Given the description of an element on the screen output the (x, y) to click on. 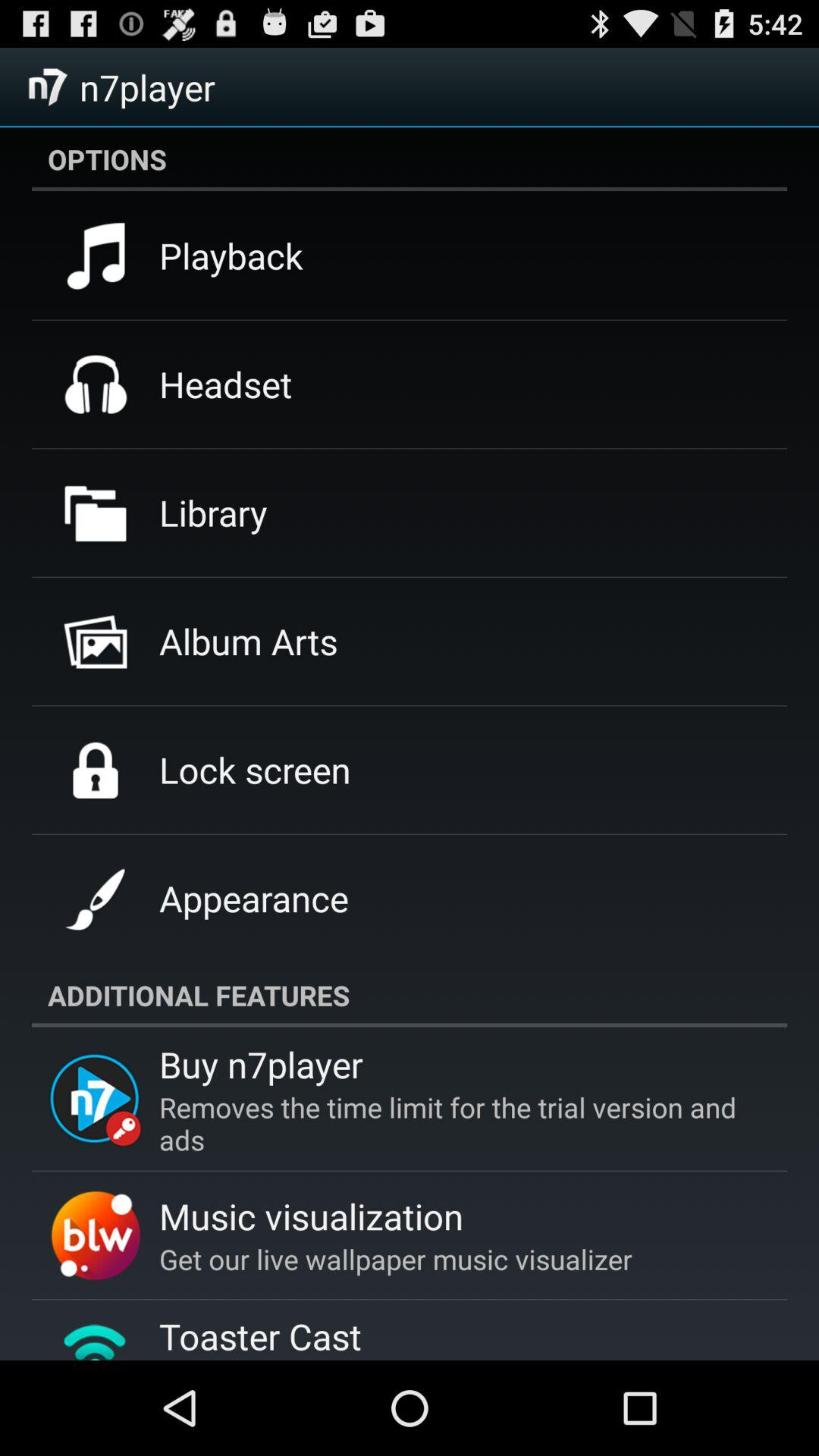
choose item below the removes the time (311, 1216)
